Given the description of an element on the screen output the (x, y) to click on. 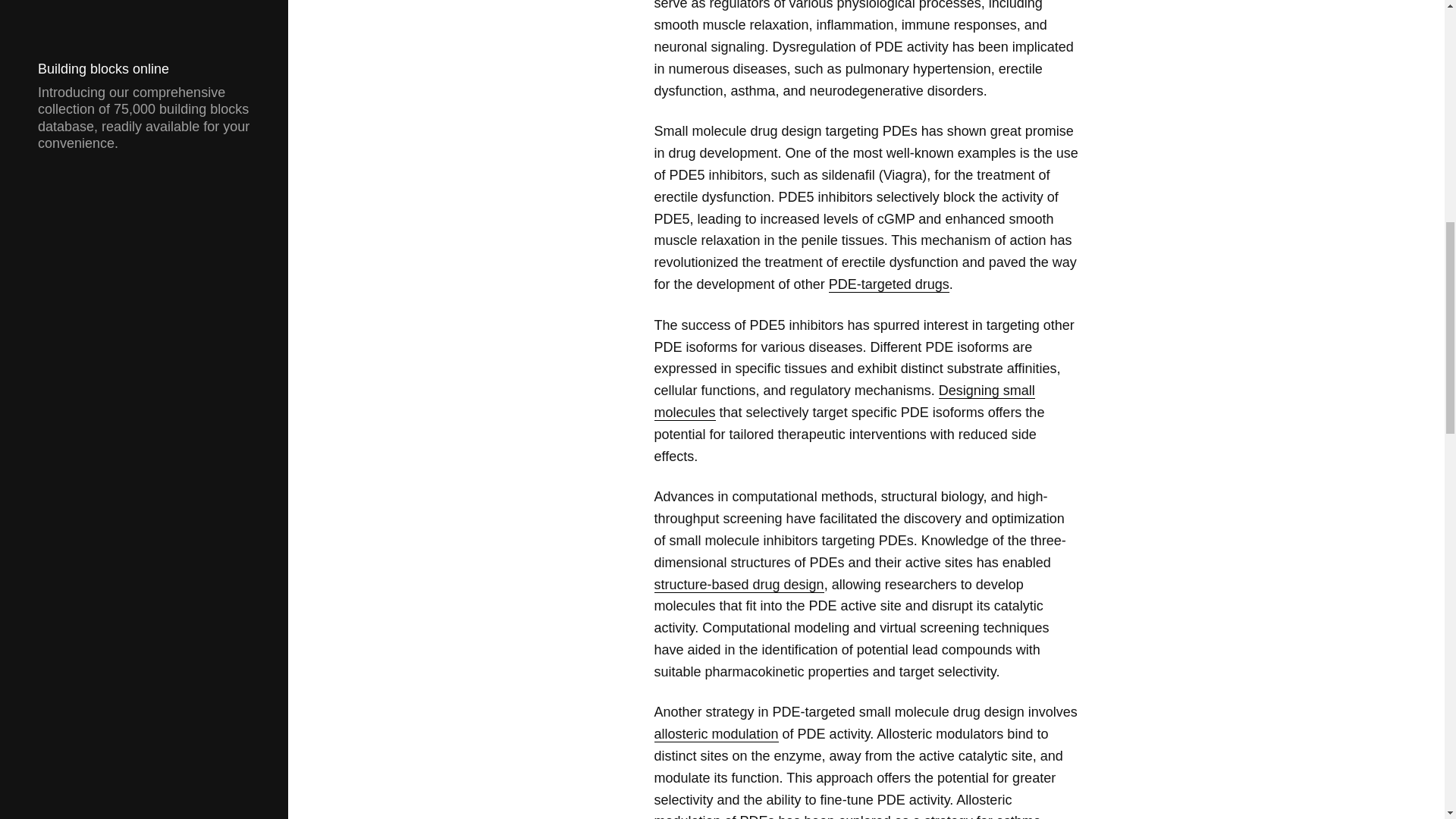
allosteric modulation (715, 734)
Designing small molecules (843, 401)
PDE-targeted drugs (888, 284)
structure-based drug design (738, 584)
